Given the description of an element on the screen output the (x, y) to click on. 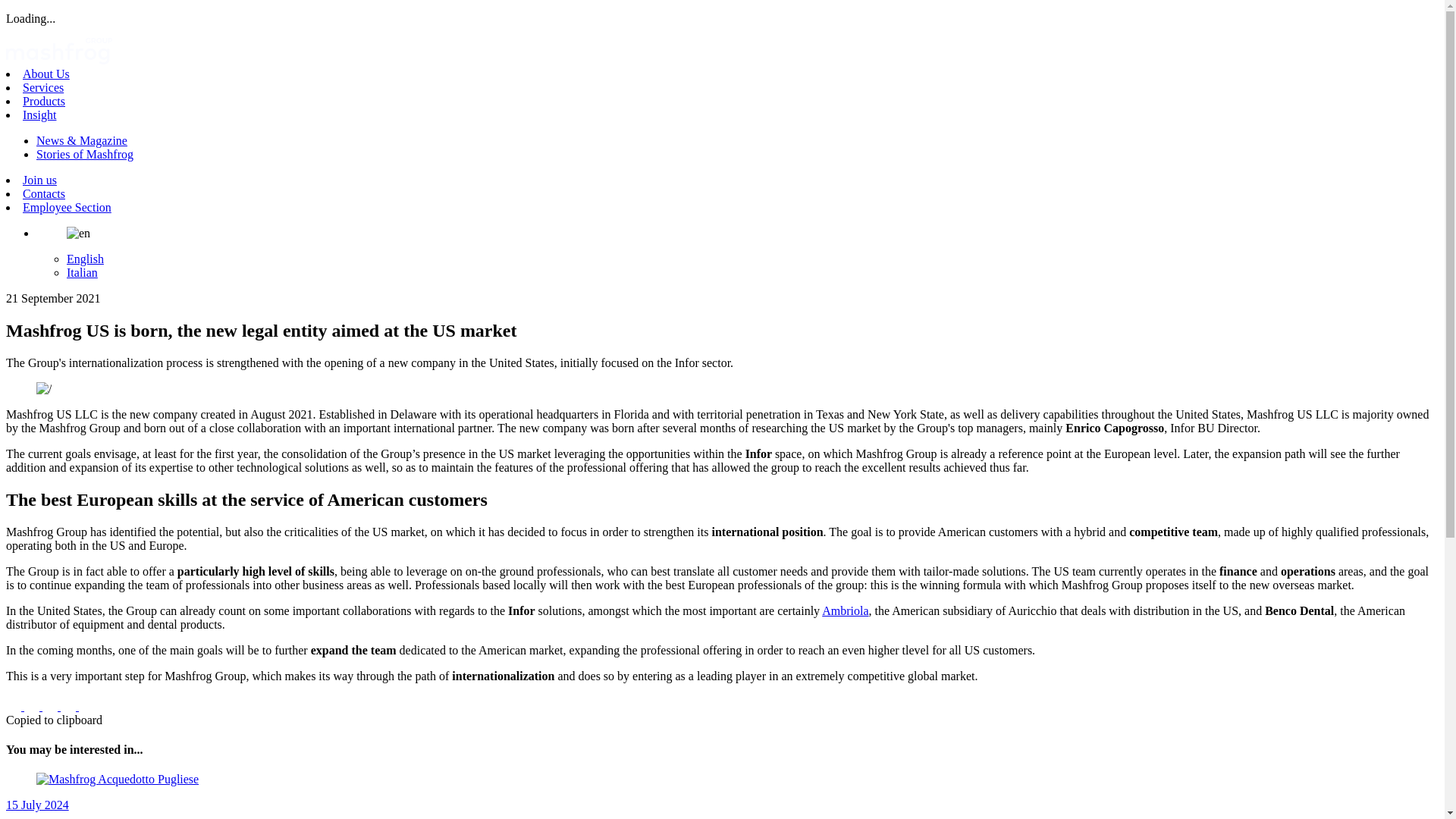
Services (43, 87)
Share to Linkedin (51, 706)
English (84, 258)
Employee Section (67, 206)
Share to E-mail (69, 706)
Join us (39, 179)
Ambriola (844, 610)
Stories of Mashfrog (84, 154)
Share to Twitter (33, 706)
Italian (81, 272)
Share to Facebook (14, 706)
Products (44, 101)
Insight (39, 114)
Contacts (44, 193)
About Us (46, 73)
